Given the description of an element on the screen output the (x, y) to click on. 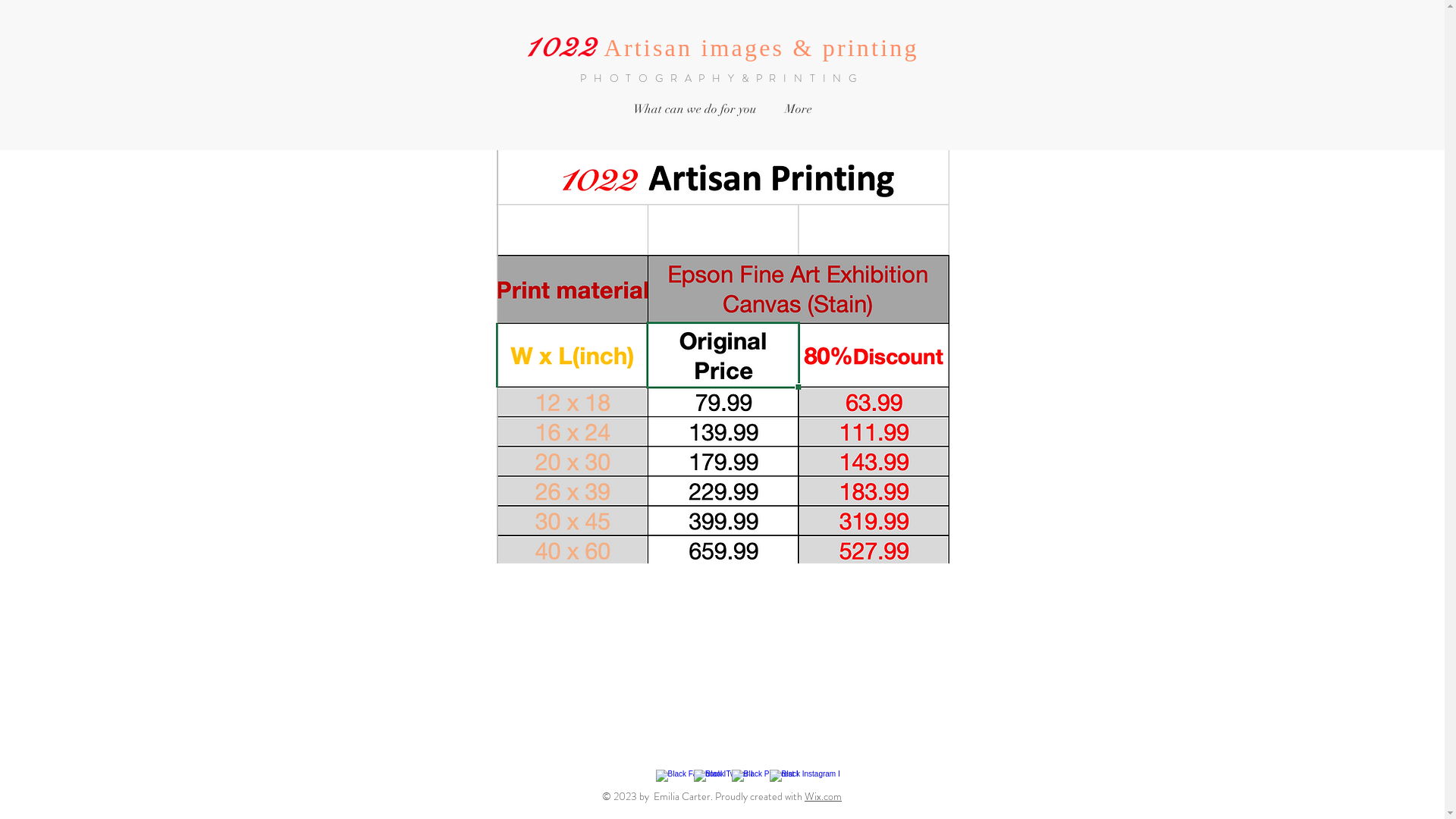
1022  Element type: text (563, 47)
Artisan images & printing Element type: text (761, 47)
PHOTOGRAPHY&PRINTING Element type: text (721, 77)
Wix.com Element type: text (822, 795)
